Given the description of an element on the screen output the (x, y) to click on. 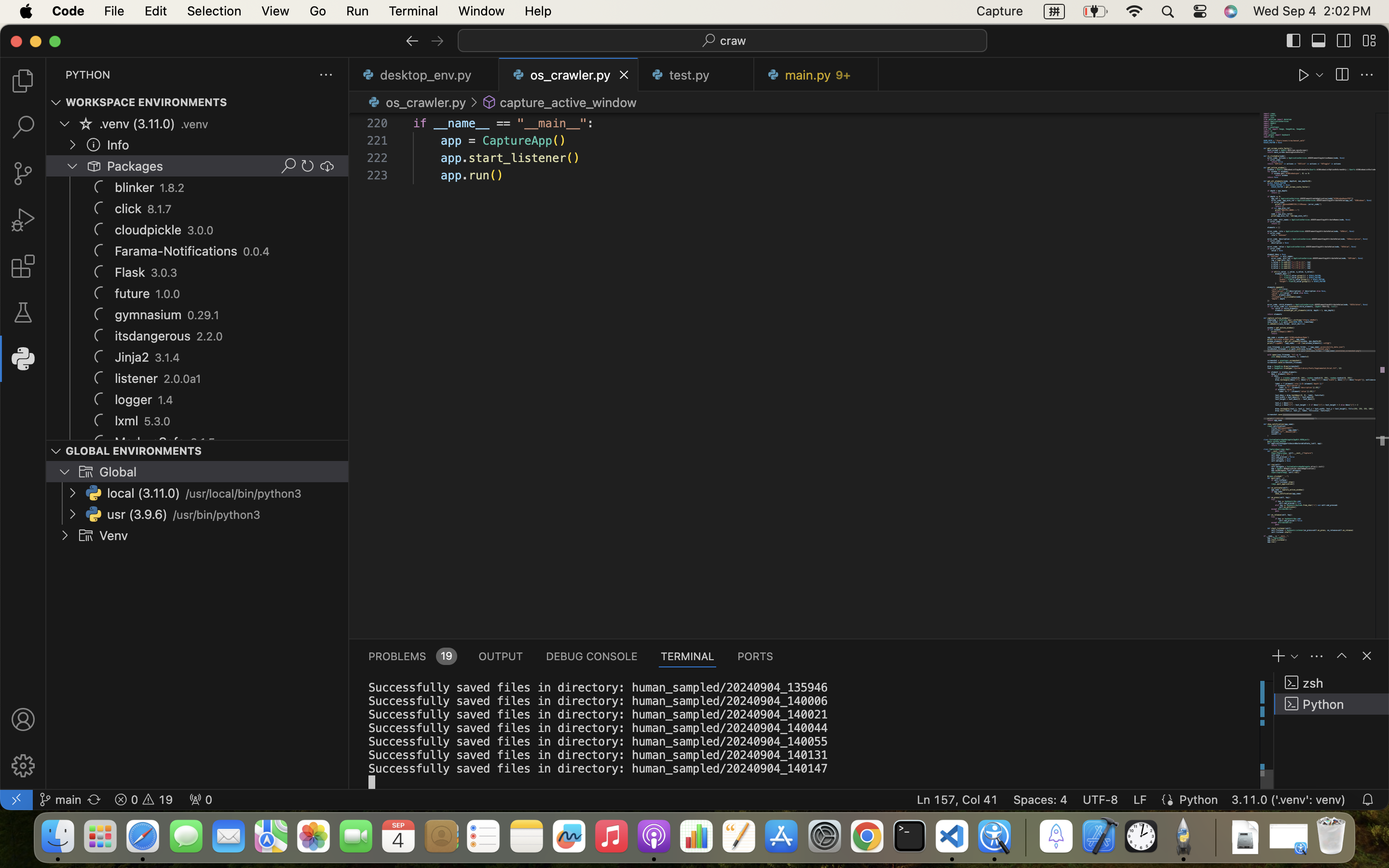
/usr/bin/python3 Element type: AXStaticText (216, 514)
click Element type: AXStaticText (127, 208)
1 os_crawler.py   Element type: AXRadioButton (568, 74)
 Element type: AXStaticText (55, 451)
19  0  Element type: AXButton (143, 799)
